Given the description of an element on the screen output the (x, y) to click on. 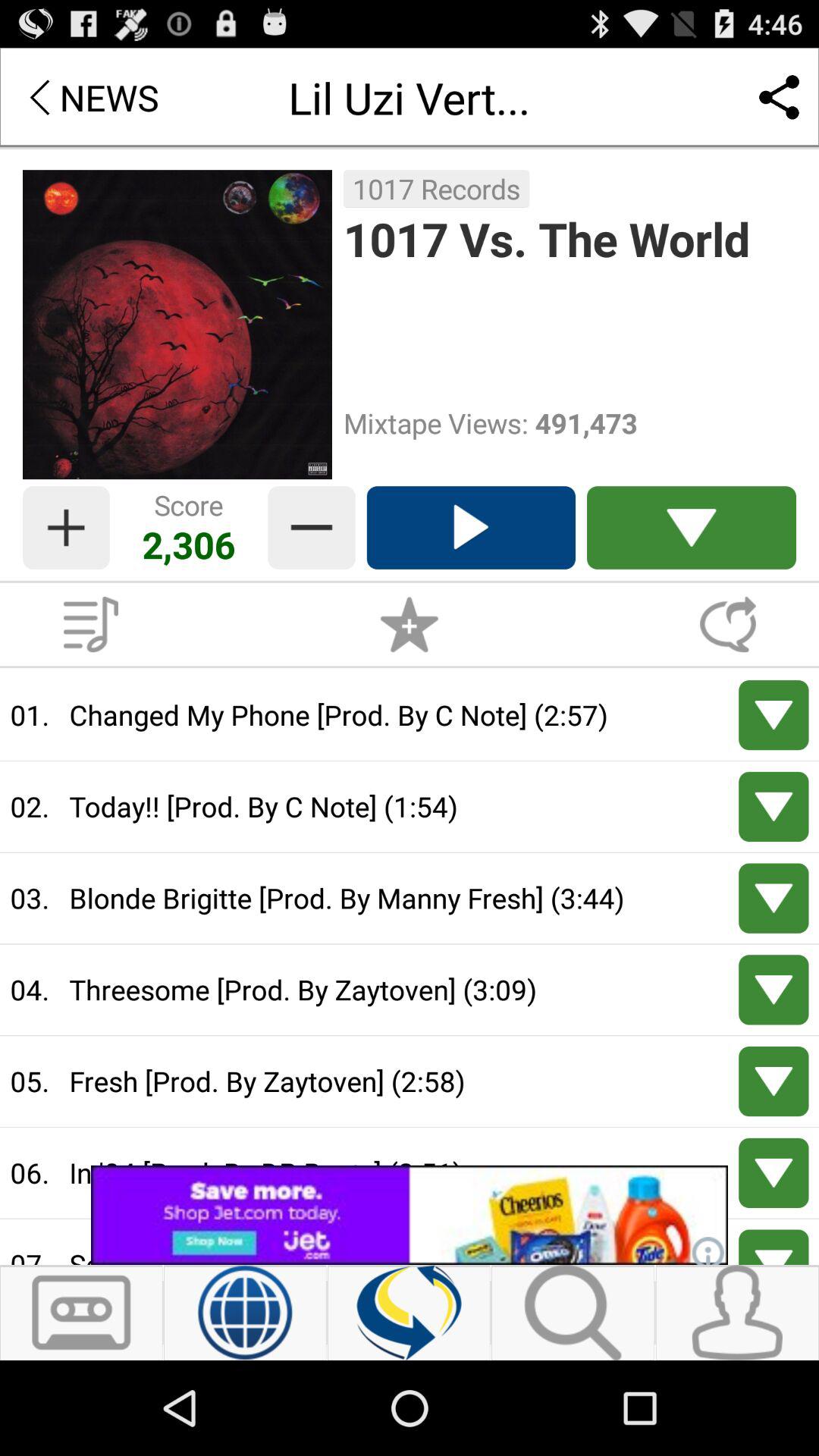
go down (773, 1246)
